Given the description of an element on the screen output the (x, y) to click on. 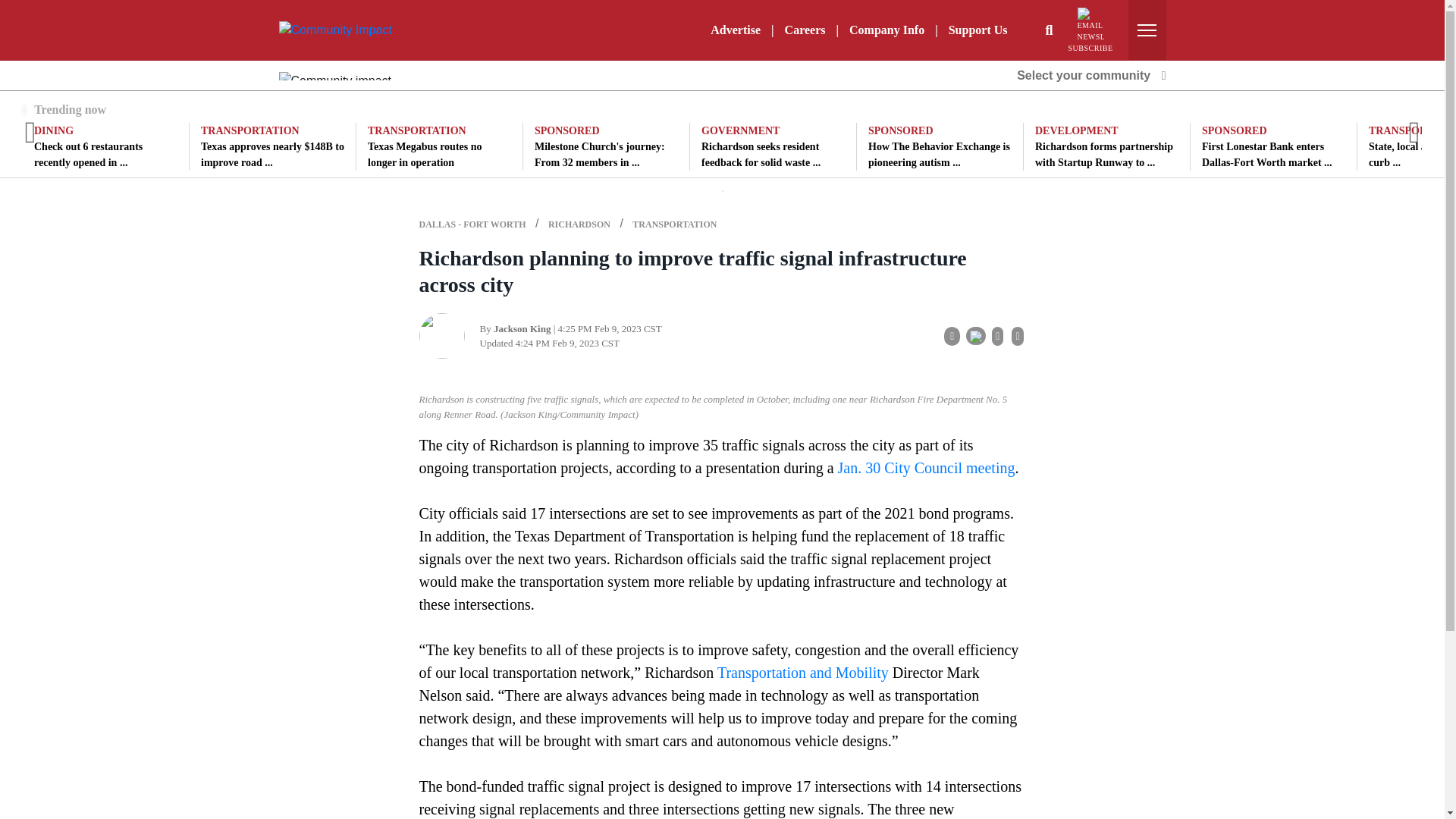
Support Us (977, 29)
Careers (804, 29)
Community Impact Newspaper (335, 29)
SUBSCRIBE (1090, 30)
Advertise (735, 29)
Company Info (886, 29)
